Given the description of an element on the screen output the (x, y) to click on. 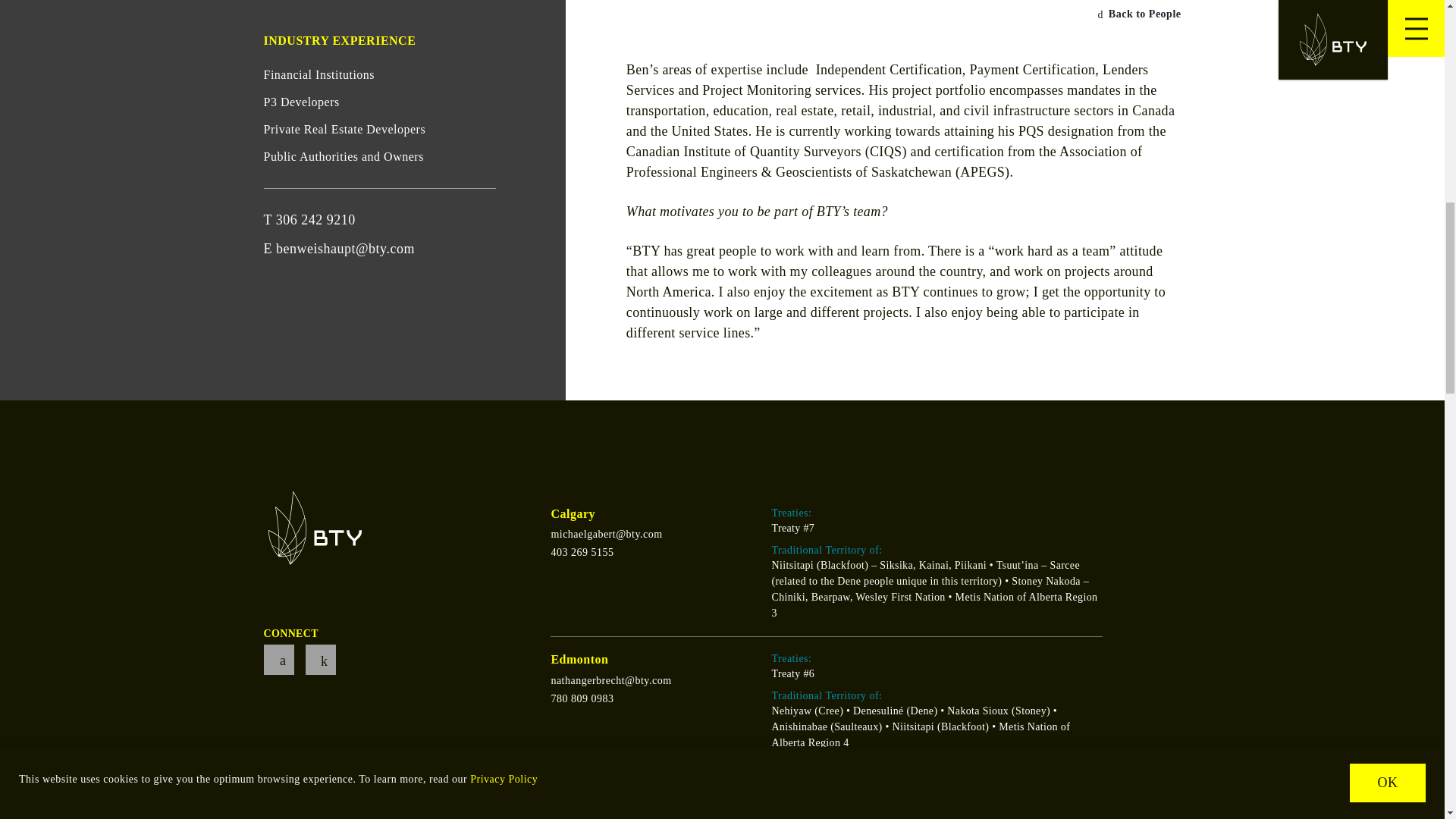
BTY logo (314, 528)
BTY logo (298, 528)
